Given the description of an element on the screen output the (x, y) to click on. 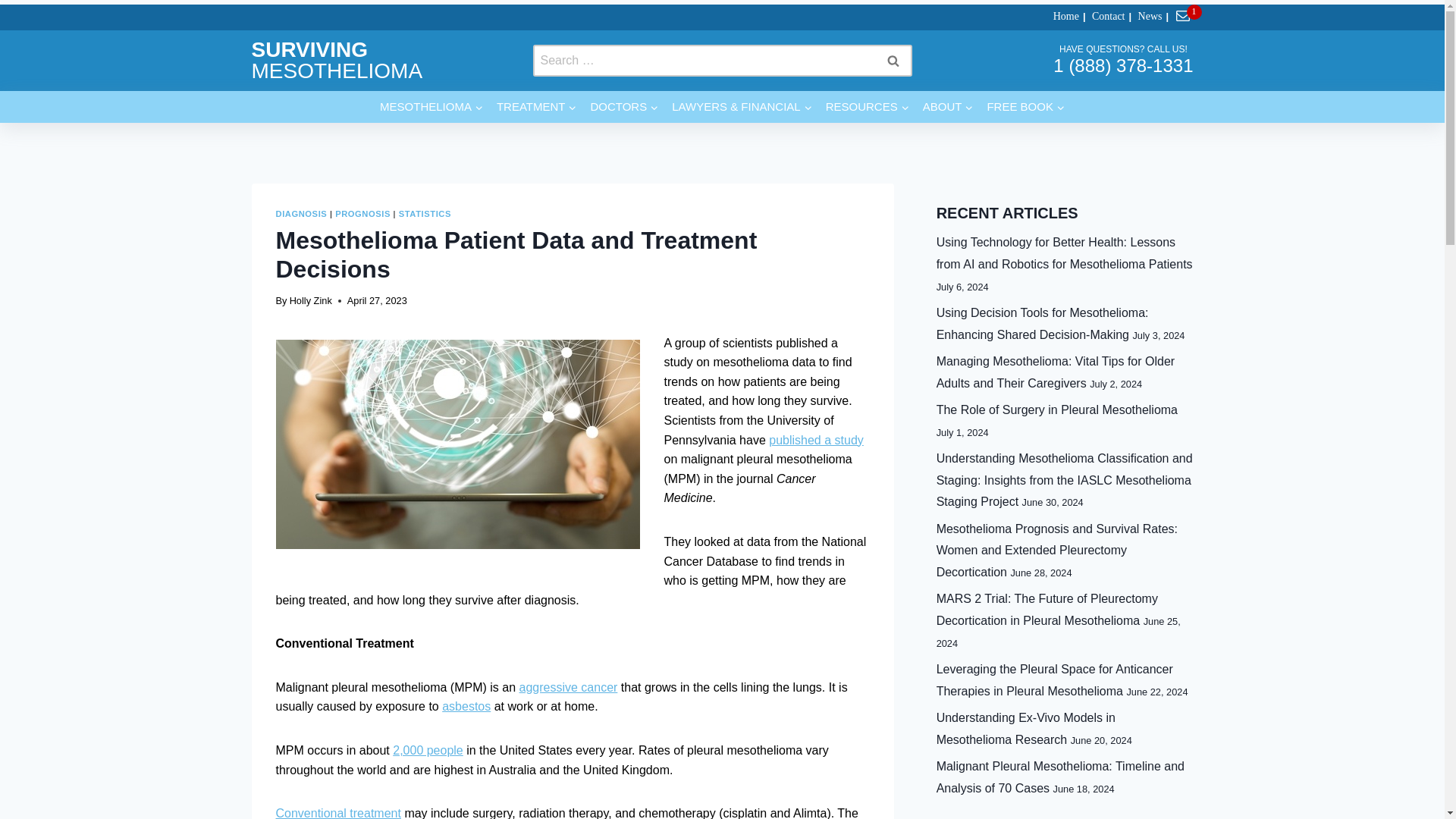
MESOTHELIOMA (430, 106)
Call Surviving Mesothelioma (1122, 65)
Notifications (1185, 16)
SURVIVING MESOTHELIOMA (337, 59)
Search (892, 60)
Contact (1102, 17)
Search (892, 60)
Search (892, 60)
Home (1060, 17)
News (1144, 17)
